Given the description of an element on the screen output the (x, y) to click on. 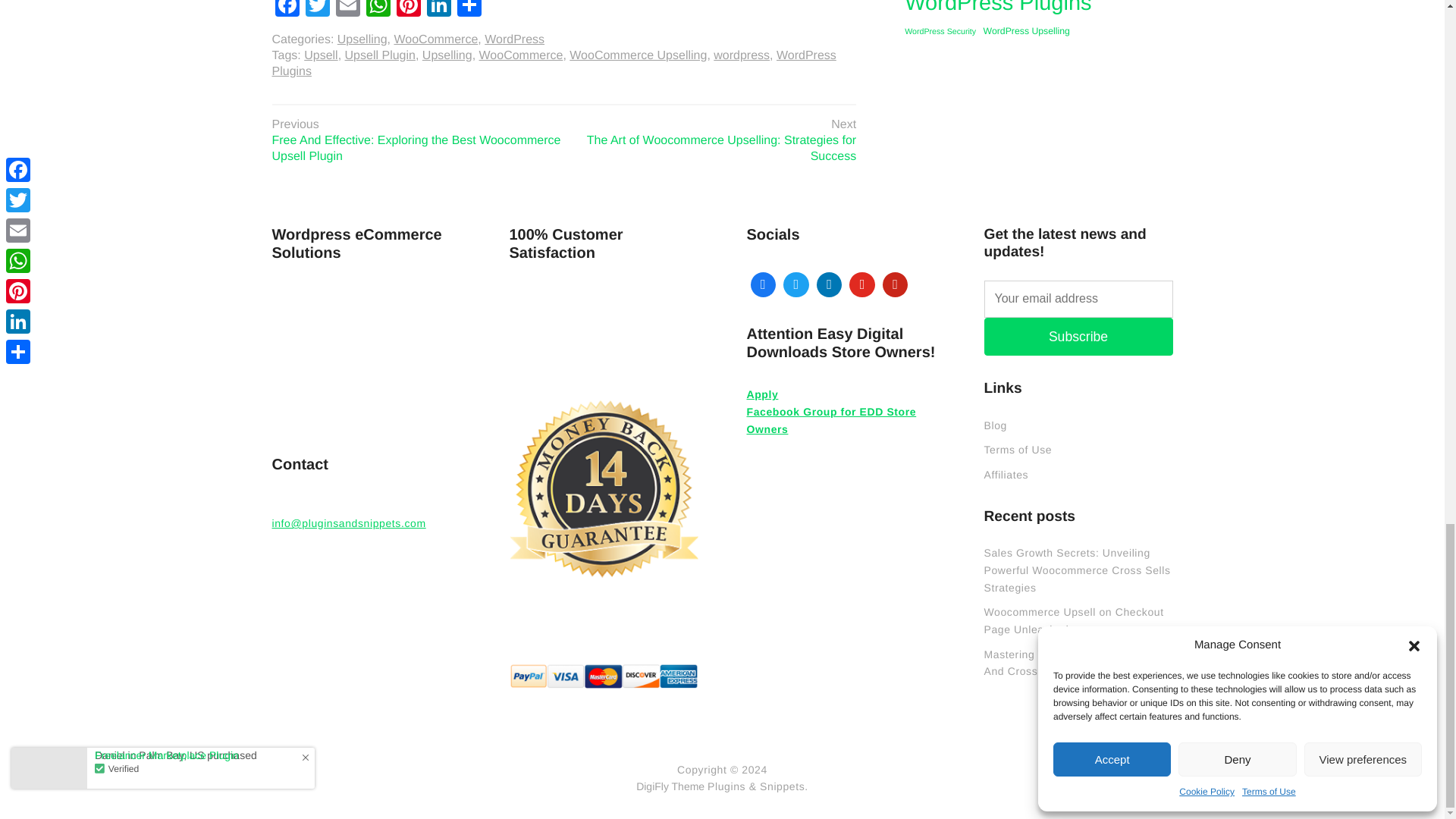
Facebook (285, 10)
LinkedIn (437, 10)
Twitter (316, 10)
Linkedin (828, 285)
Email (346, 10)
Twitter (795, 285)
Facebook (761, 285)
WhatsApp (377, 10)
Subscribe (1078, 336)
Pinterest (408, 10)
